Given the description of an element on the screen output the (x, y) to click on. 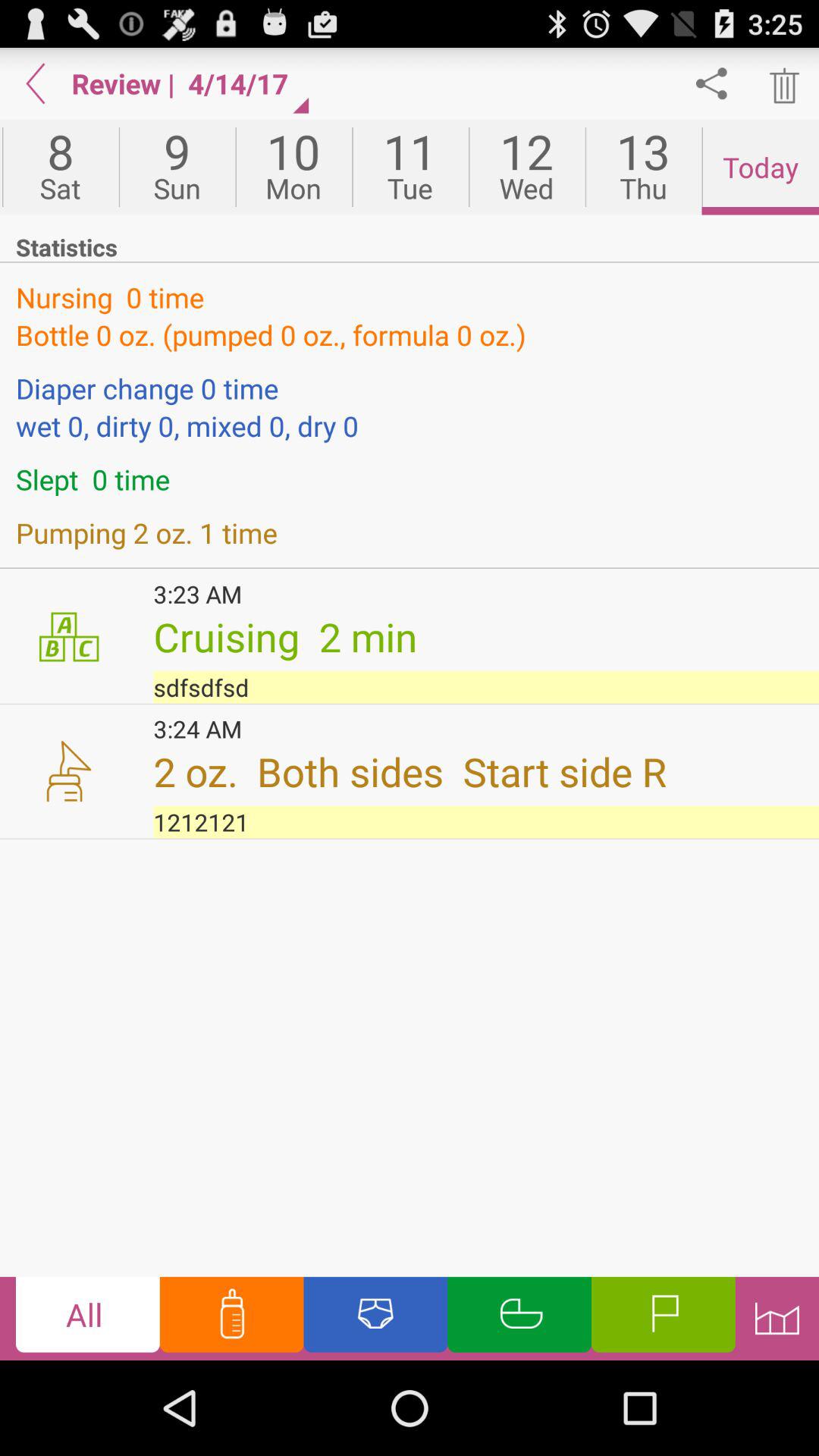
go statistics (777, 1318)
